Given the description of an element on the screen output the (x, y) to click on. 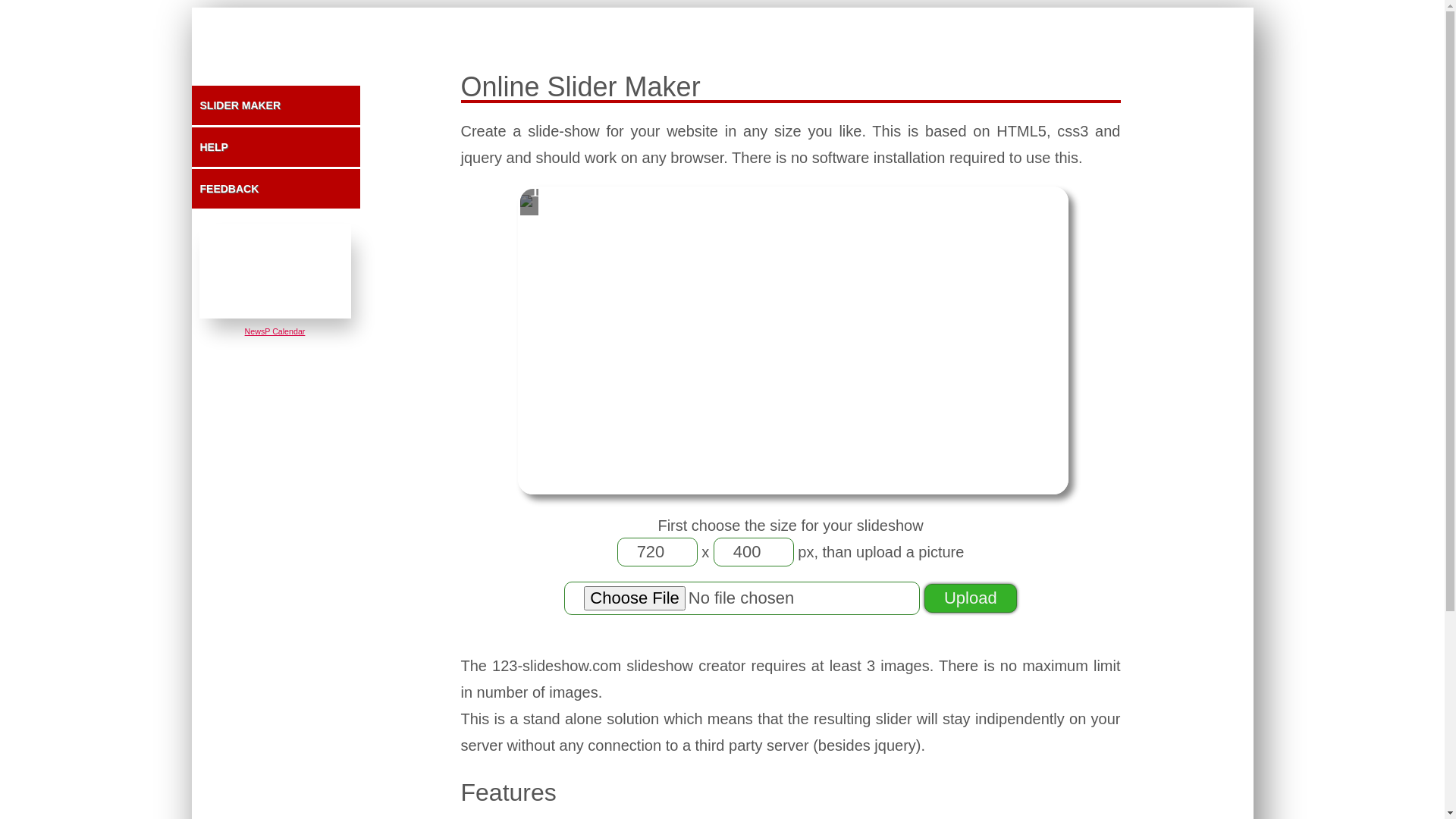
SLIDER MAKER Element type: text (275, 105)
HELP Element type: text (275, 146)
NewsP Calendar Element type: text (274, 330)
FEEDBACK Element type: text (275, 188)
Upload Element type: text (970, 597)
